Given the description of an element on the screen output the (x, y) to click on. 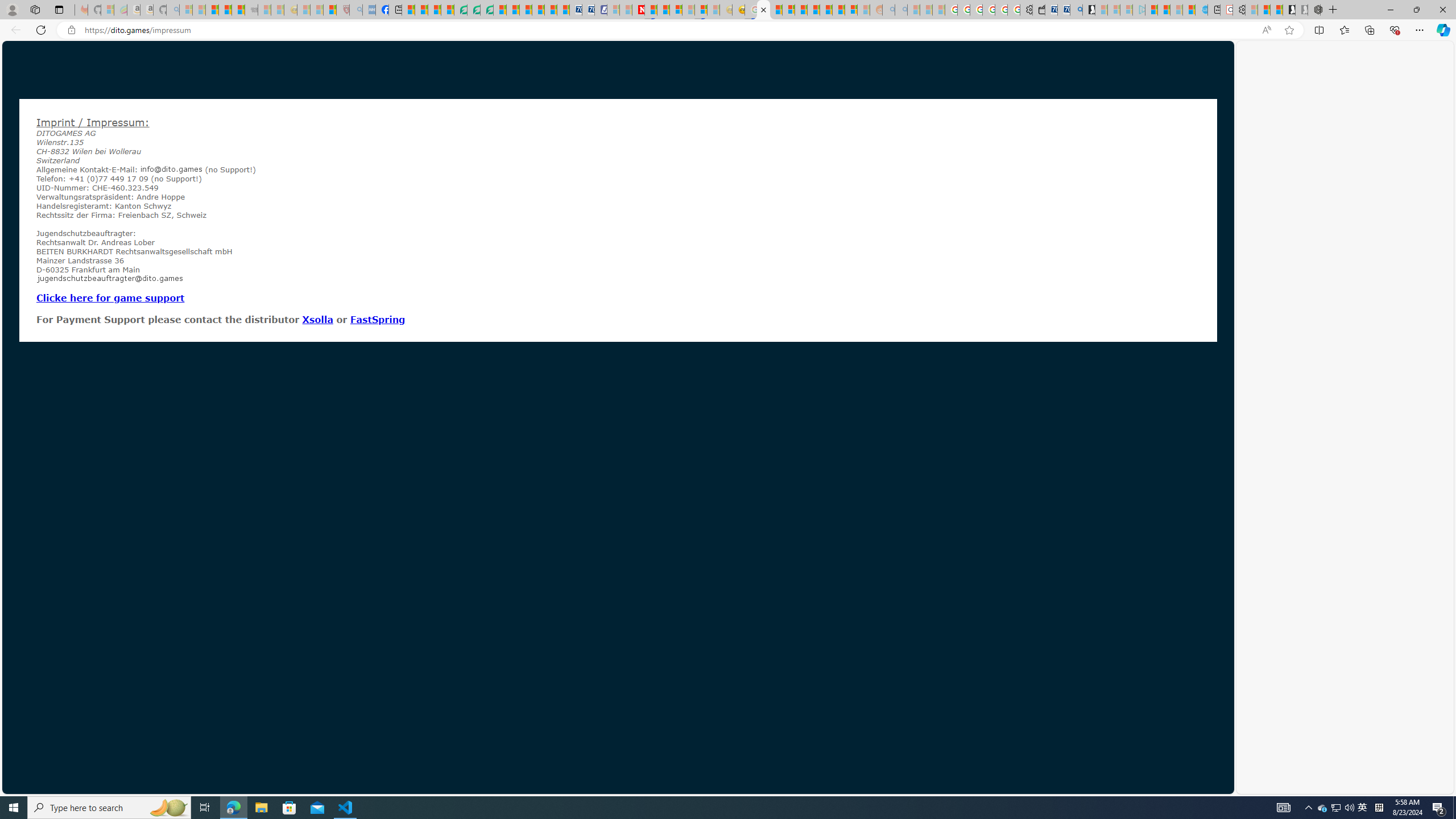
New Report Confirms 2023 Was Record Hot | Watch (237, 9)
Combat Siege (251, 9)
Clicke here for game support (110, 297)
14 Common Myths Debunked By Scientific Facts (663, 9)
